Given the description of an element on the screen output the (x, y) to click on. 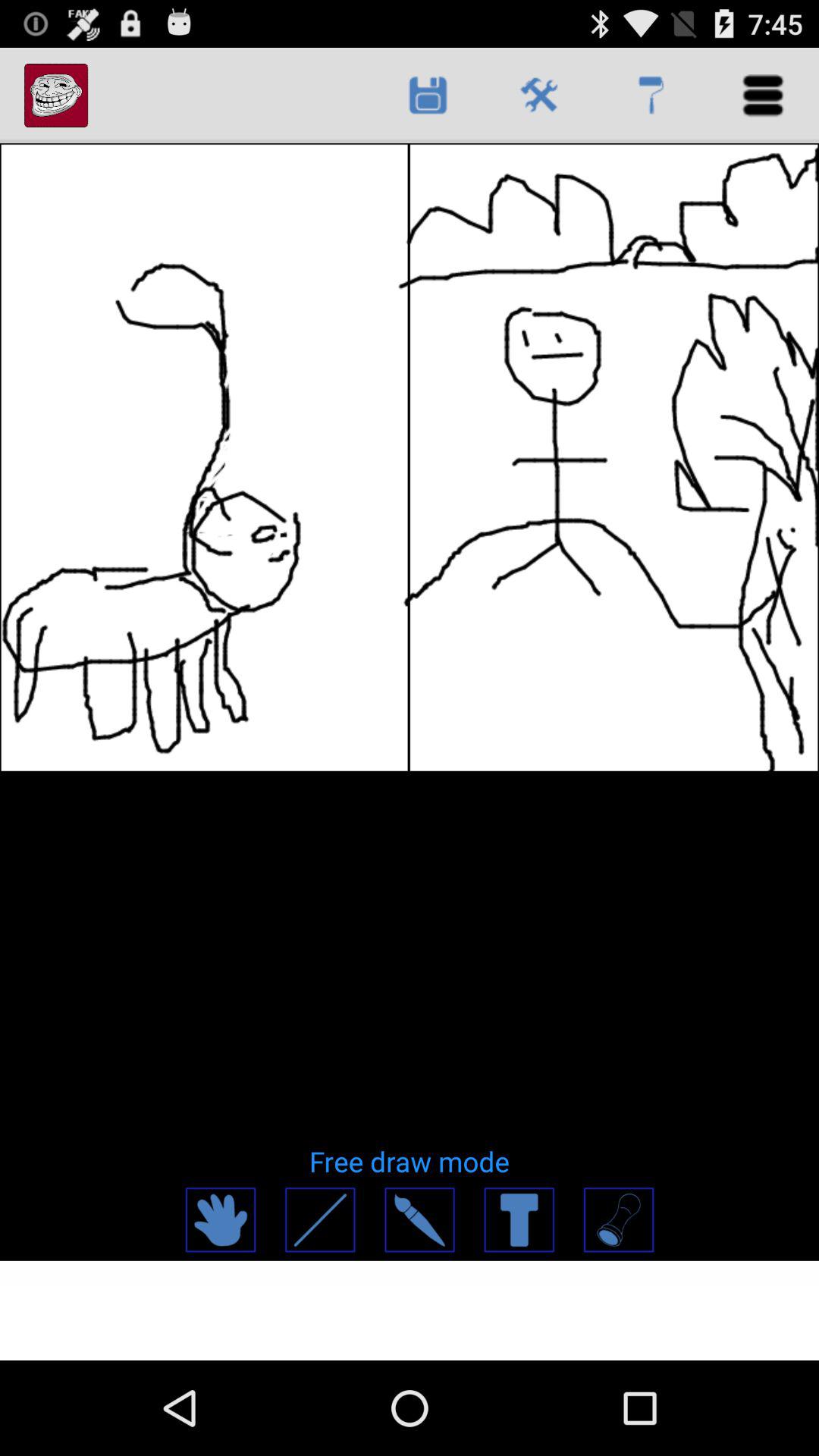
access paintbrush (418, 1219)
